Given the description of an element on the screen output the (x, y) to click on. 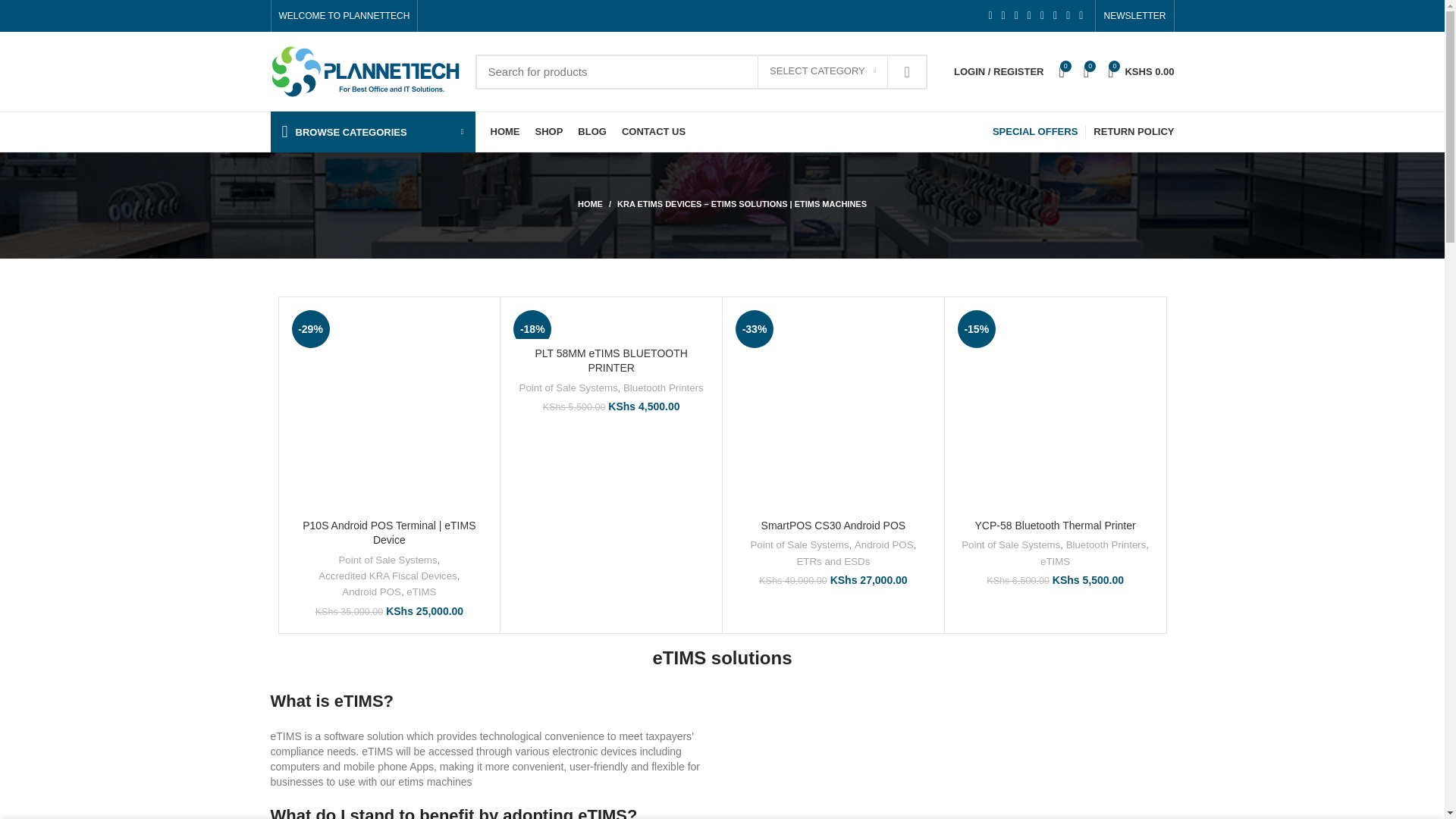
SELECT CATEGORY (822, 71)
Shopping cart (1140, 71)
Search for products (700, 71)
NEWSLETTER (1134, 15)
WELCOME TO PLANNETTECH (343, 15)
My account (998, 71)
SELECT CATEGORY (822, 71)
